Given the description of an element on the screen output the (x, y) to click on. 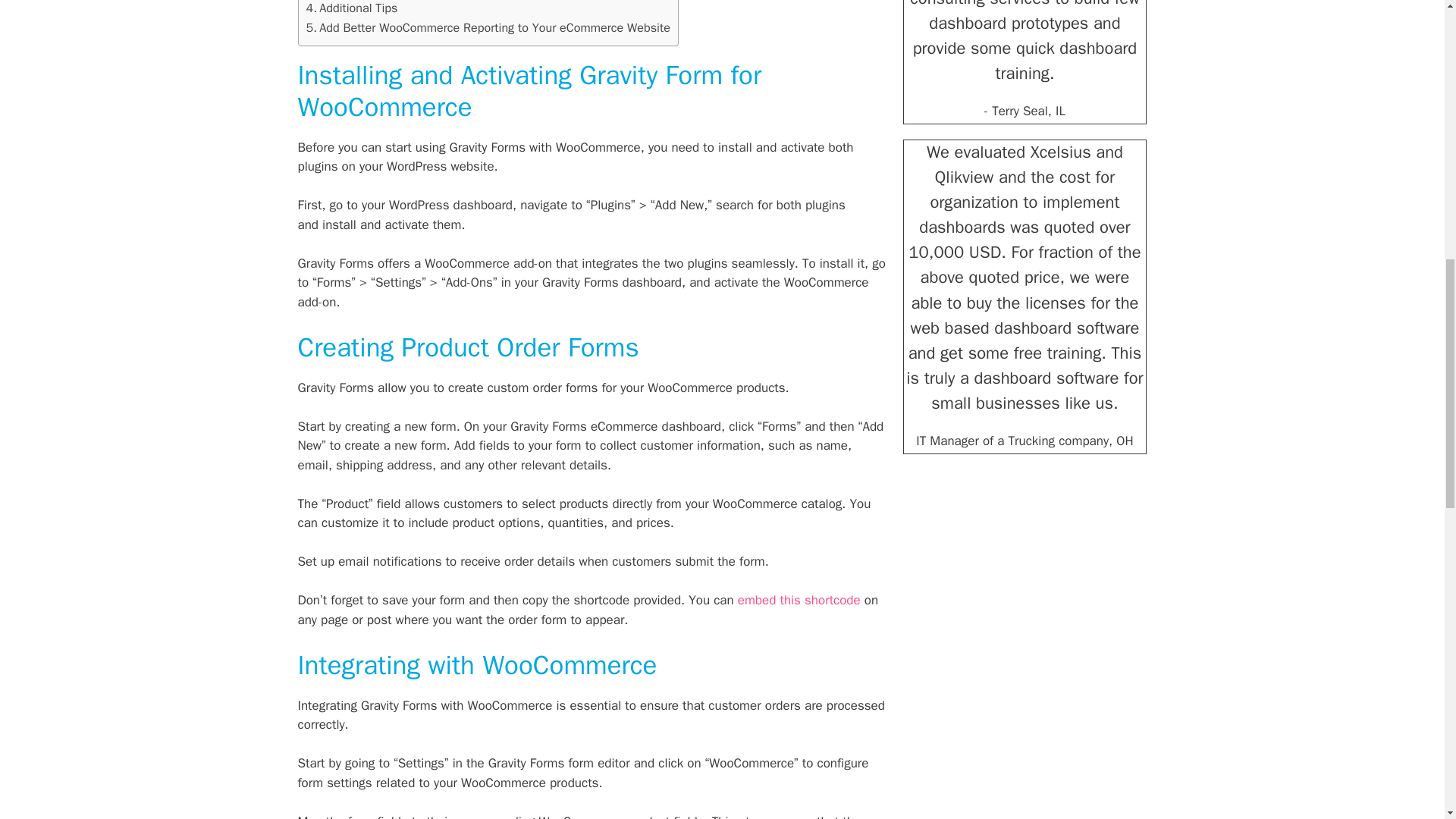
Additional Tips (351, 7)
